Given the description of an element on the screen output the (x, y) to click on. 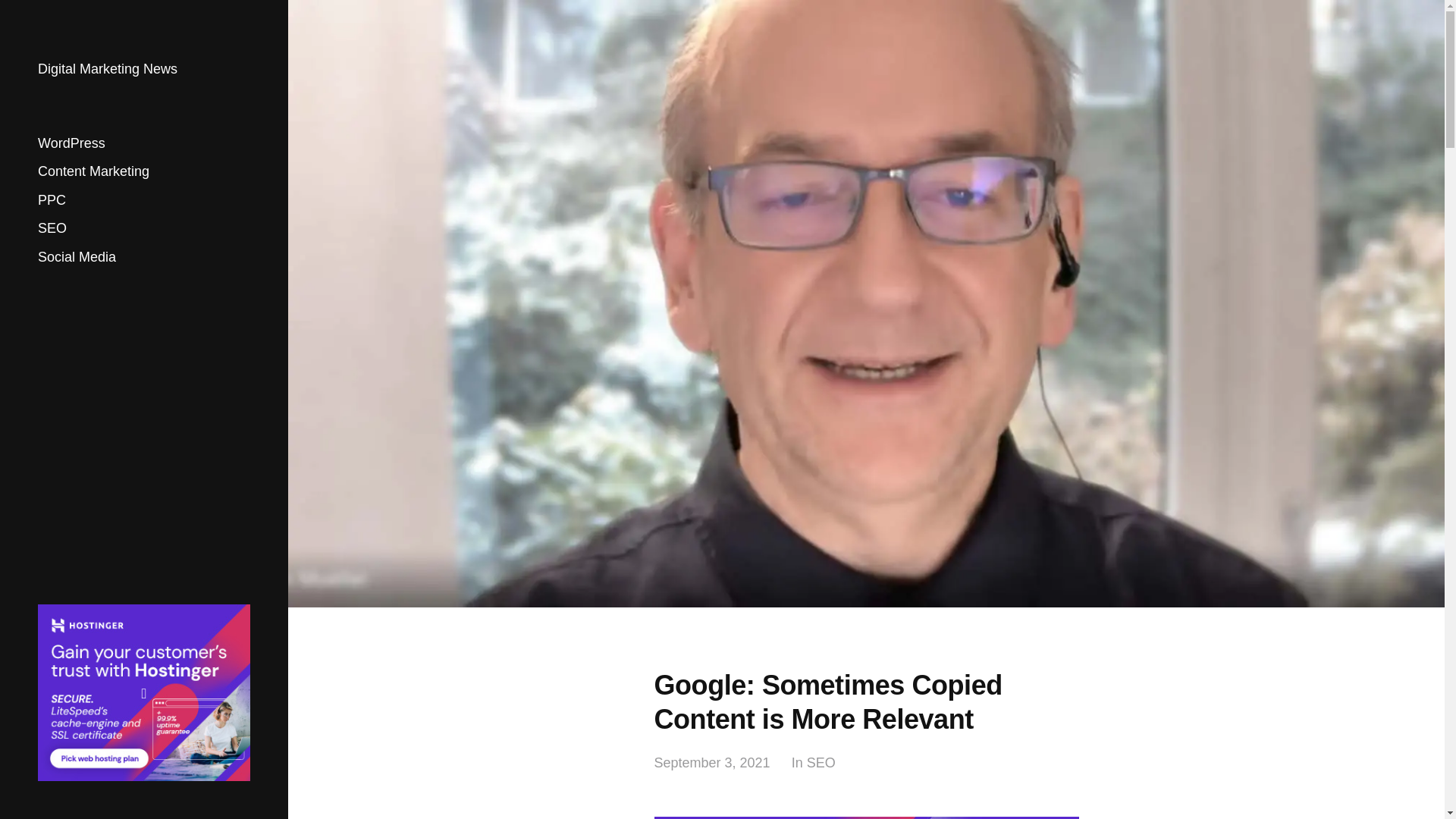
September 3, 2021 (711, 763)
PPC (51, 200)
Digital Marketing News (107, 68)
SEO (820, 763)
WordPress (70, 142)
Content Marketing (93, 171)
Social Media (76, 256)
SEO (51, 228)
